Given the description of an element on the screen output the (x, y) to click on. 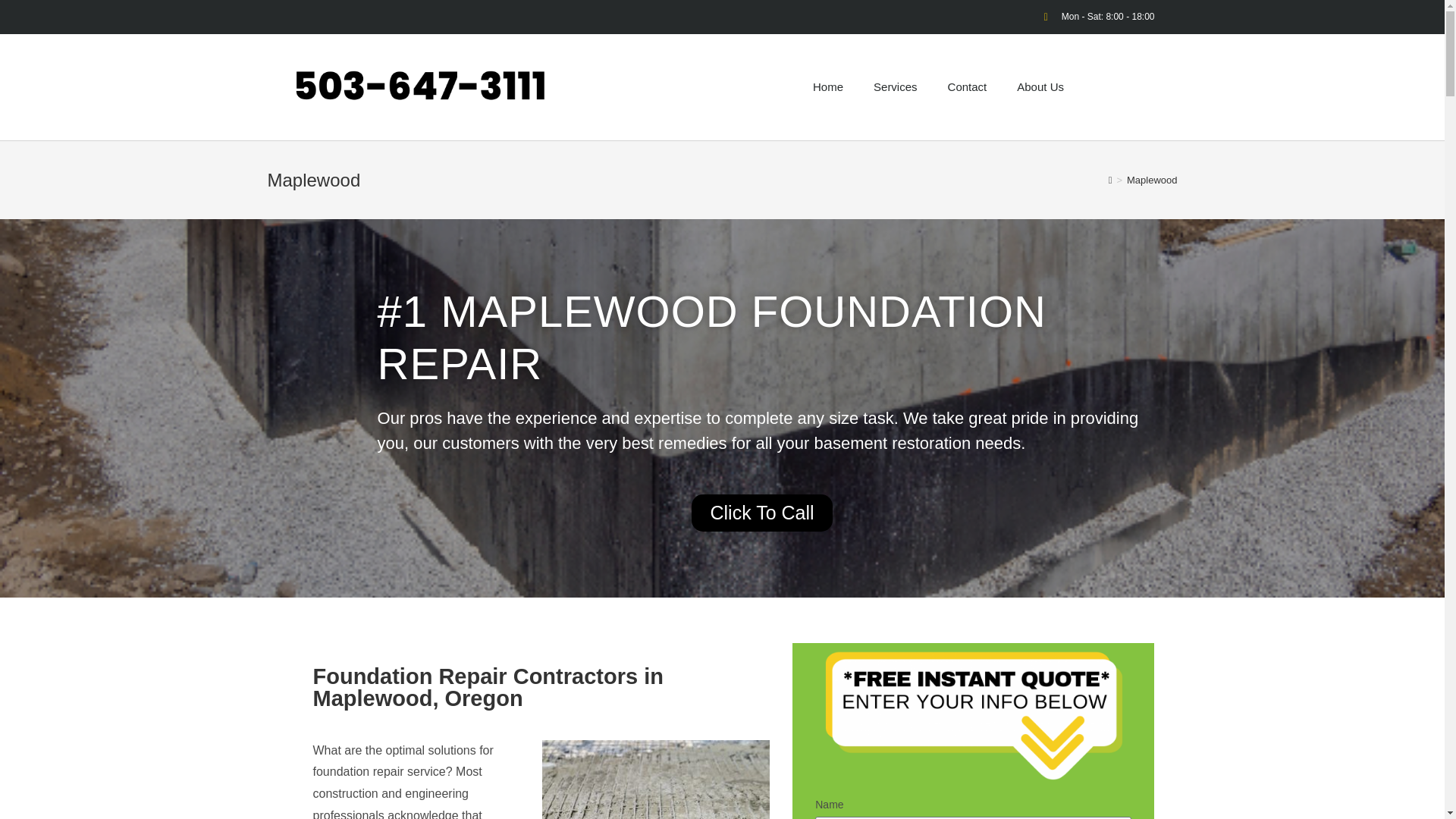
About Us (1039, 87)
Click To Call (761, 512)
Home (828, 87)
Maplewood (1151, 179)
Services (896, 87)
Contact (968, 87)
